Given the description of an element on the screen output the (x, y) to click on. 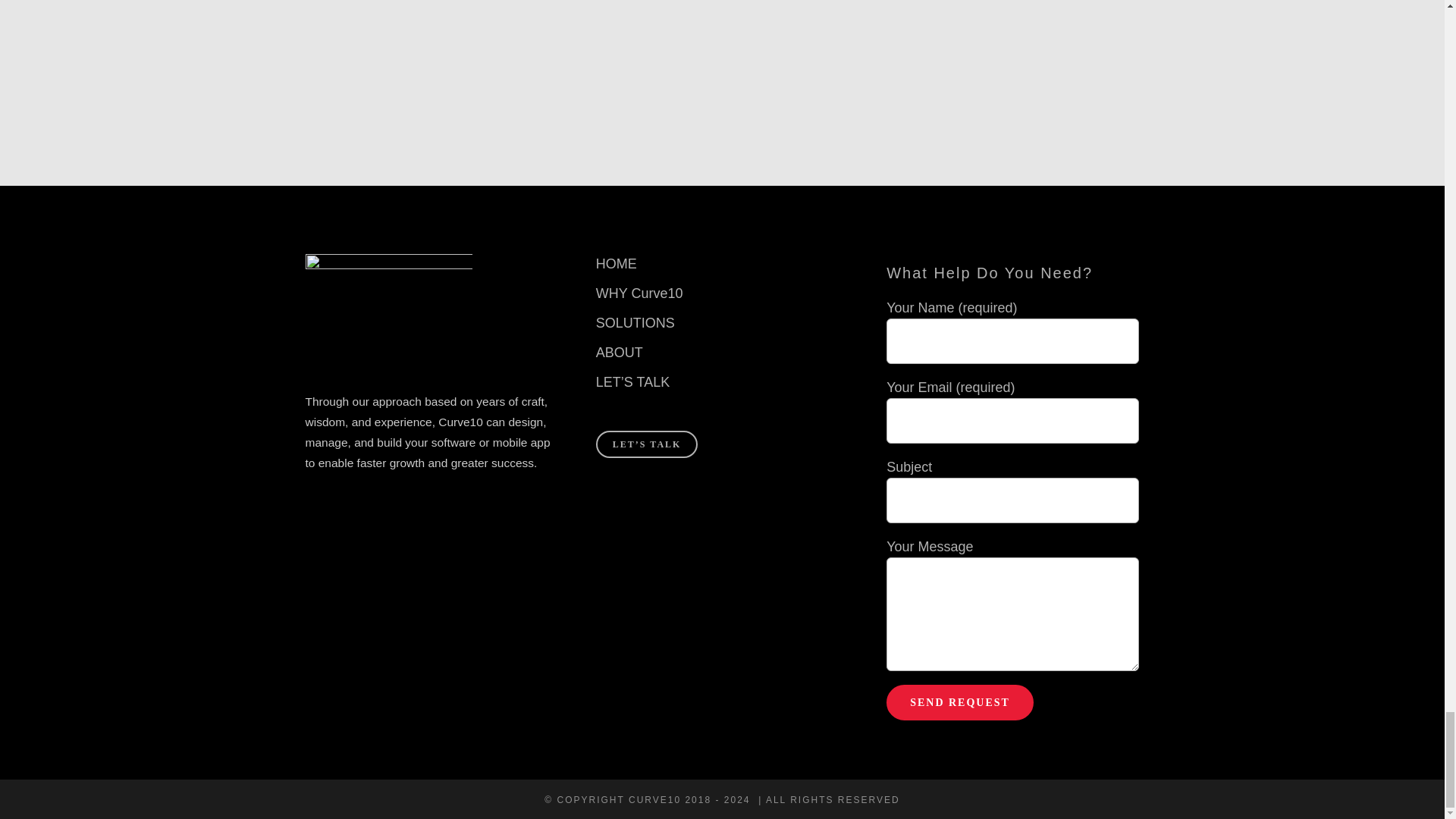
SOLUTIONS (721, 322)
SEND REQUEST (959, 702)
WHY Curve10 (721, 293)
HOME (721, 263)
ABOUT (721, 353)
SEND REQUEST (959, 702)
